Given the description of an element on the screen output the (x, y) to click on. 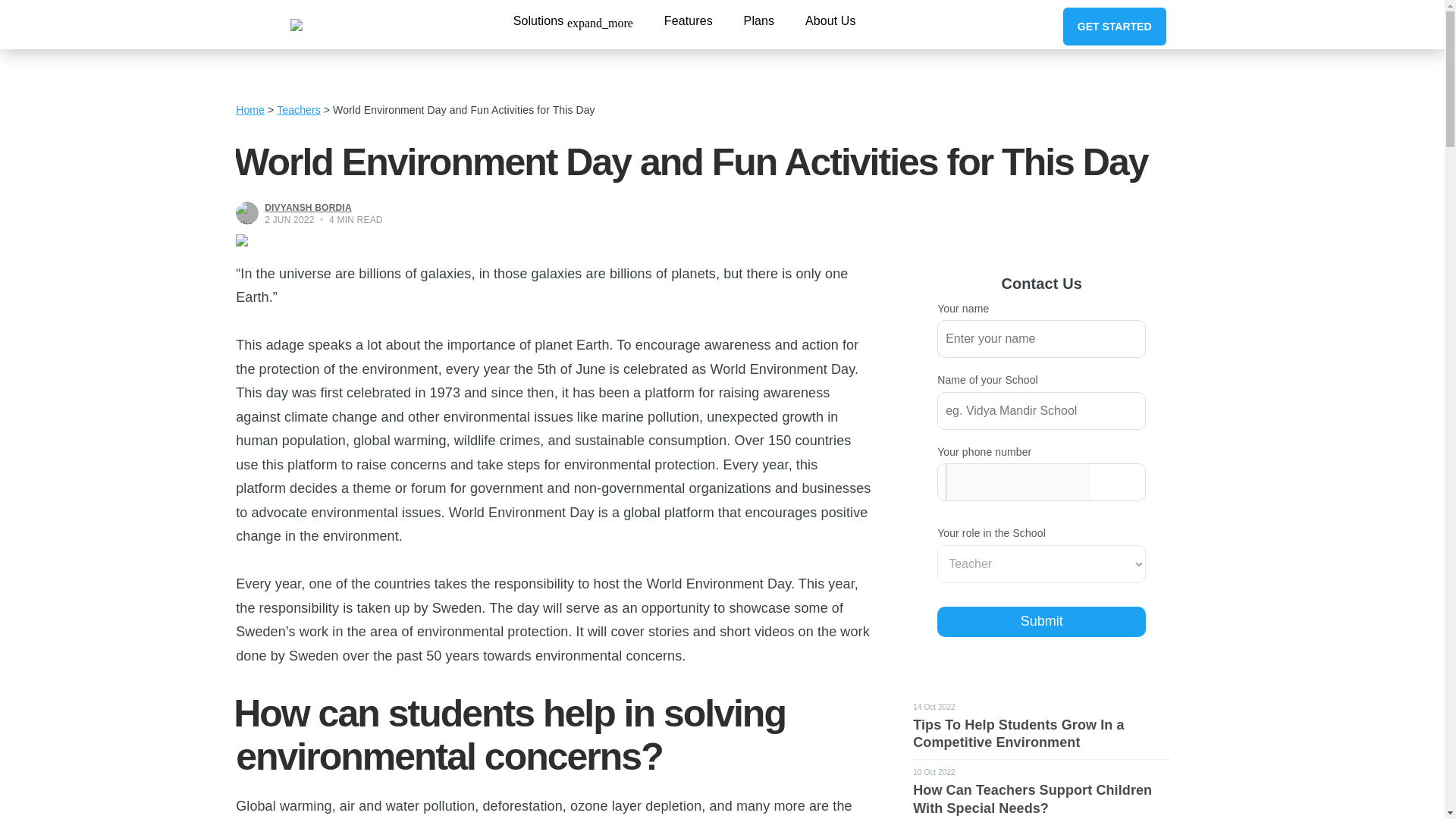
Features (688, 20)
GET STARTED (1114, 26)
About Us (830, 20)
Plans (759, 20)
